Given the description of an element on the screen output the (x, y) to click on. 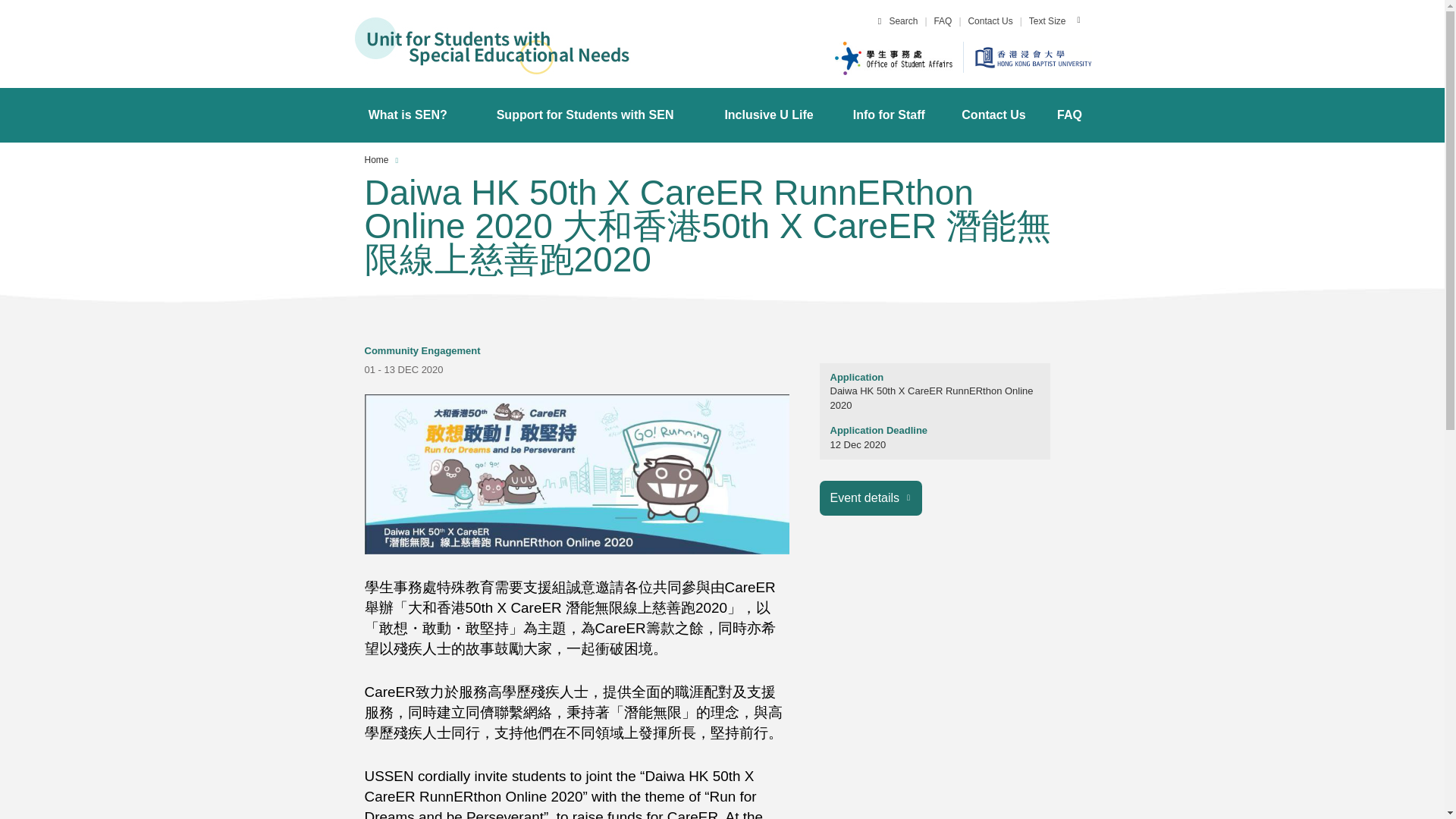
FAQ (942, 21)
Contact Us (989, 21)
Text Size (1047, 21)
Support for Students with SEN (585, 115)
What is SEN? (407, 115)
